Given the description of an element on the screen output the (x, y) to click on. 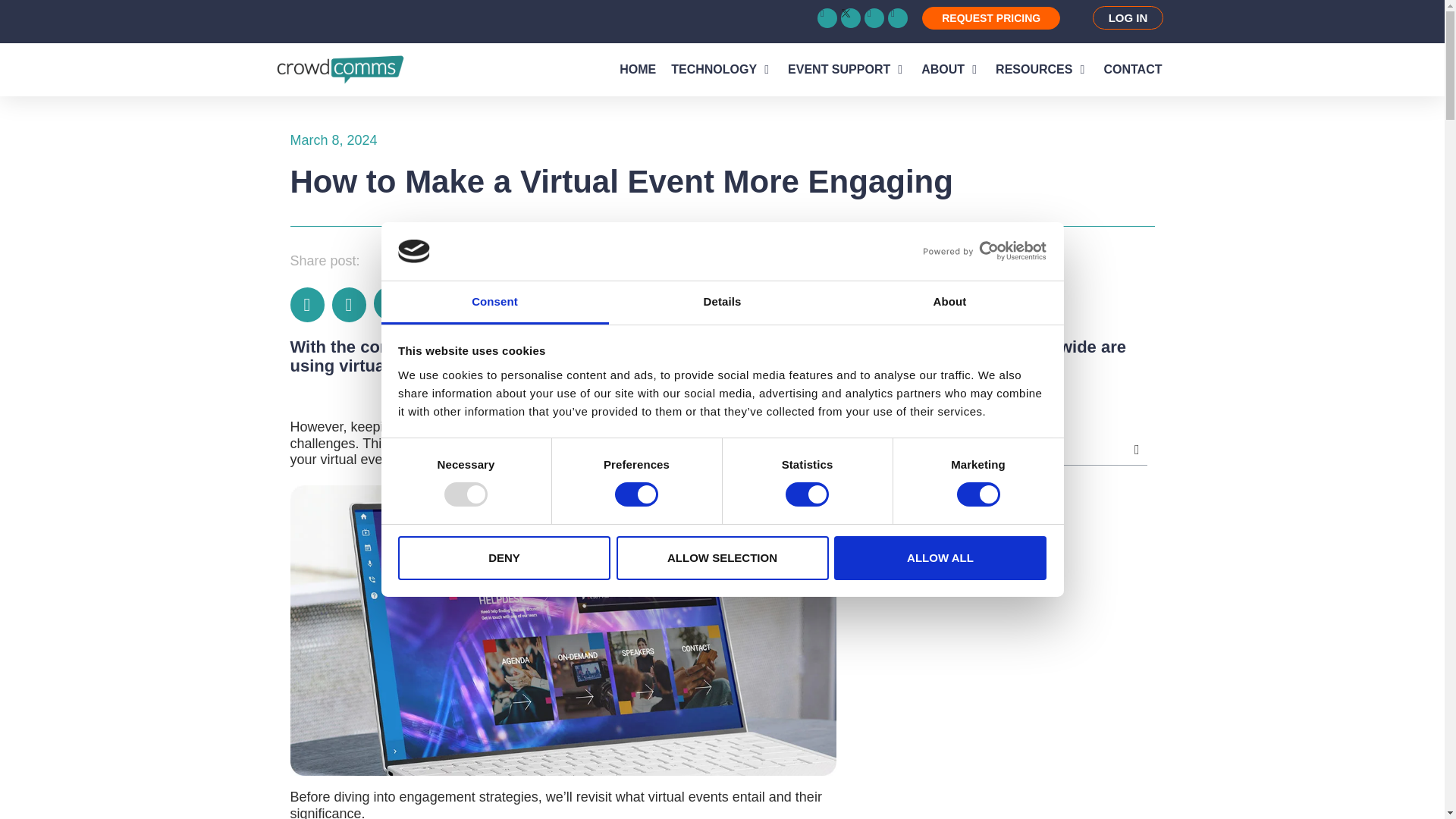
About (948, 302)
Details (721, 302)
Consent (494, 302)
